Given the description of an element on the screen output the (x, y) to click on. 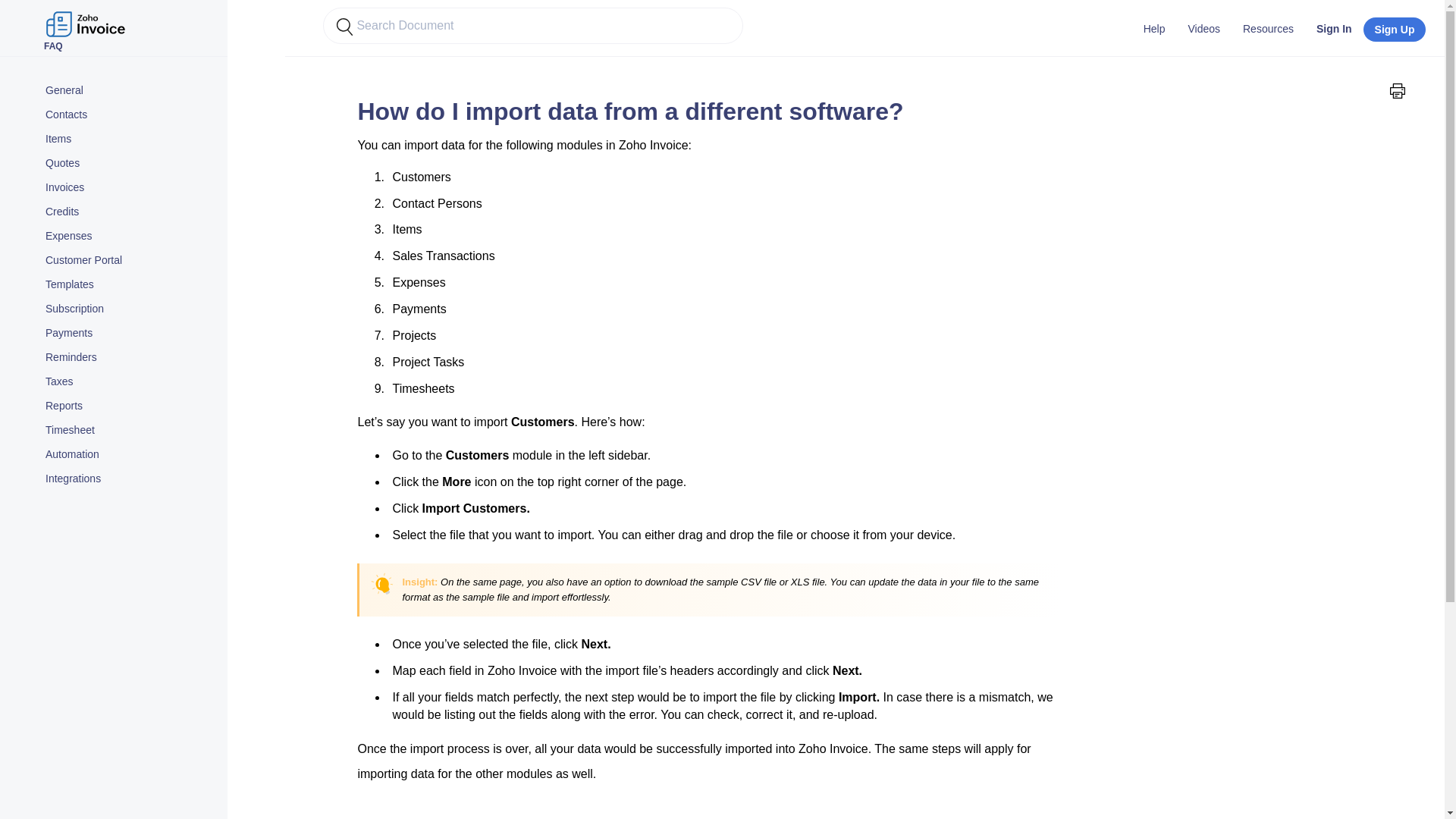
General (129, 90)
Subscription (129, 309)
Credits (129, 211)
Invoices (129, 187)
Customer Portal (129, 260)
Expenses (129, 236)
Automation (129, 454)
Sign Up (1394, 29)
Contacts (129, 115)
Integrations (129, 478)
Timesheet (129, 430)
Resources (1267, 28)
Items (129, 138)
Quotes (129, 163)
FAQ (85, 18)
